Given the description of an element on the screen output the (x, y) to click on. 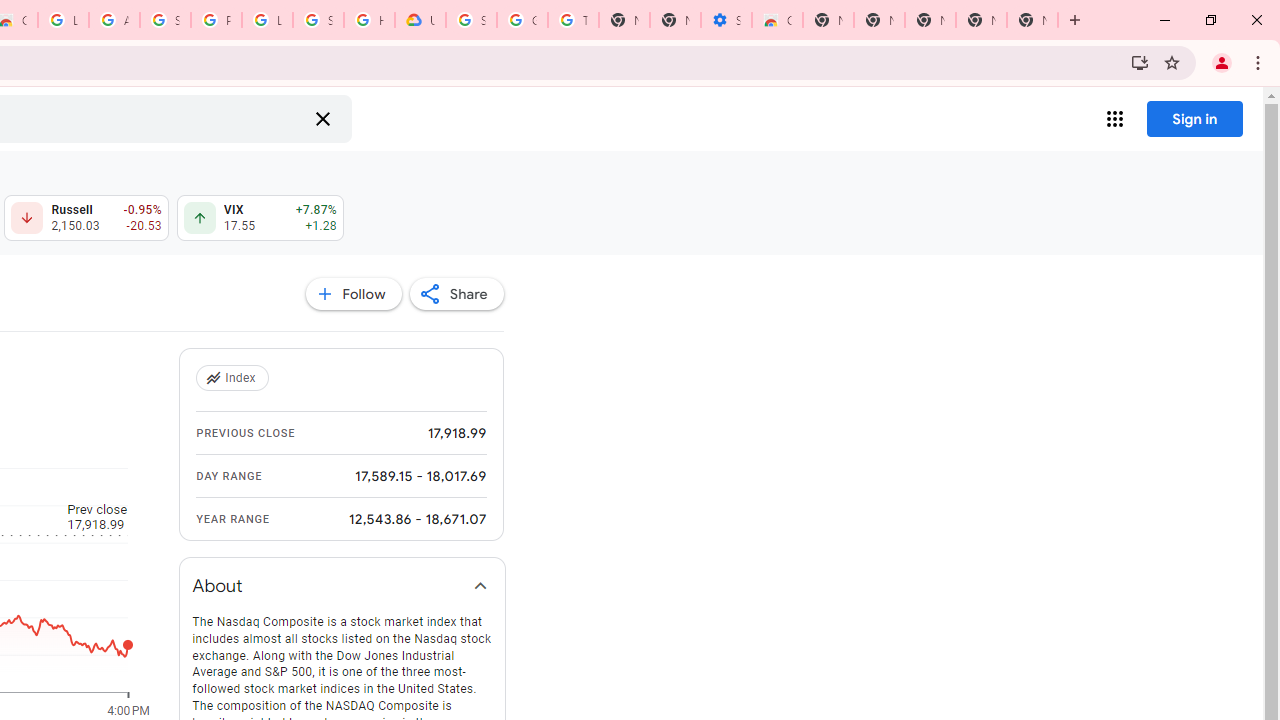
Index (233, 377)
Sign in (1194, 118)
Sign in - Google Accounts (318, 20)
New Tab (1032, 20)
Sign in - Google Accounts (470, 20)
Share (456, 293)
Google apps (1114, 118)
Russell 2,150.03 Down by 0.95% -20.53 (85, 218)
New Tab (827, 20)
Google Account Help (521, 20)
